Given the description of an element on the screen output the (x, y) to click on. 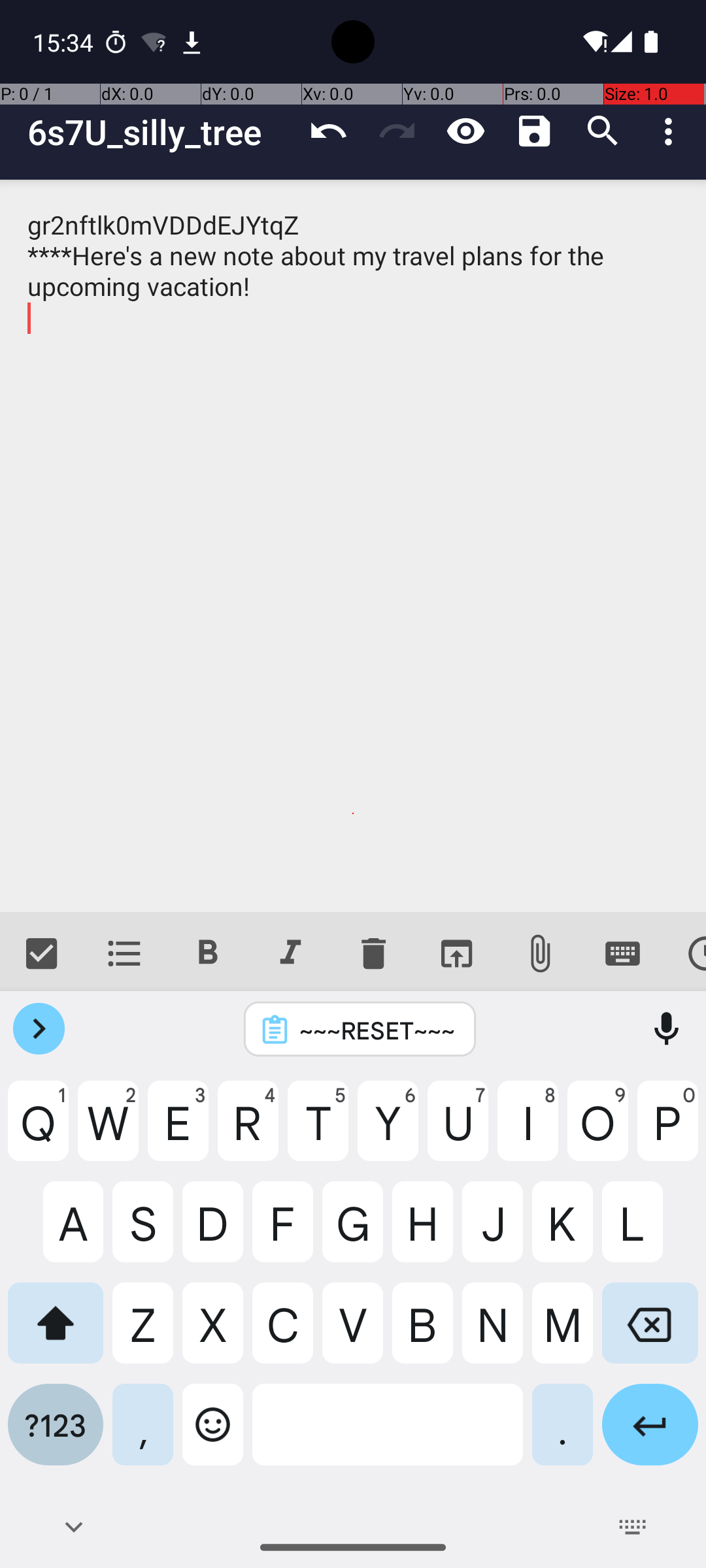
6s7U_silly_tree Element type: android.widget.TextView (160, 131)
gr2nftlk0mVDDdEJYtqZ
****Here's a new note about my travel plans for the upcoming vacation!
 Element type: android.widget.EditText (353, 545)
